Given the description of an element on the screen output the (x, y) to click on. 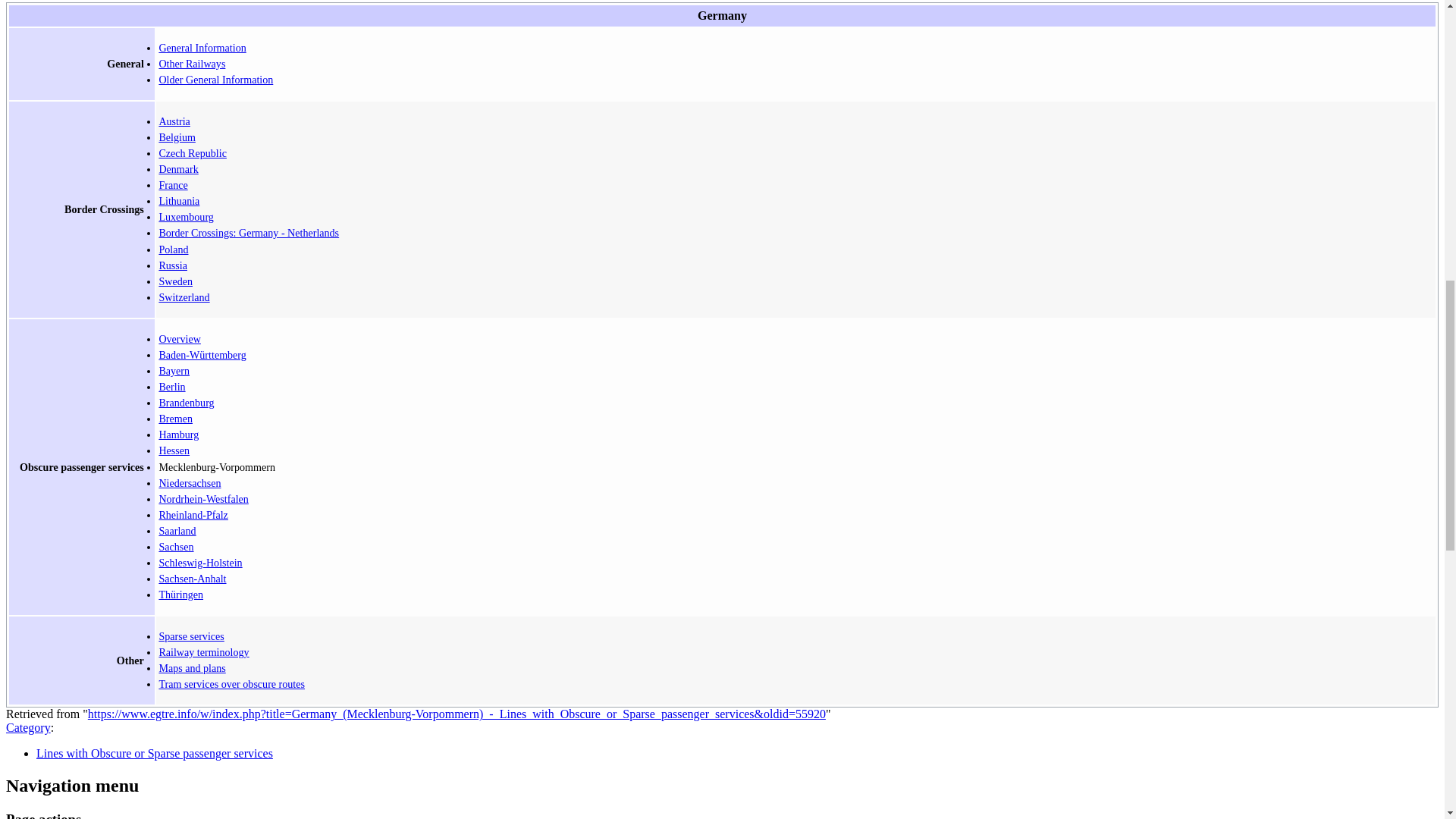
Russia (172, 265)
France (172, 184)
Mecklenburg-Vorpommern (216, 467)
Border Crossings: Germany - Lithuania (178, 200)
Poland (172, 249)
Border Crossings: Czech Republic - Germany (192, 152)
Border Crossings: Germany - Poland (172, 249)
General Information (202, 47)
Border Crossings: Germany - Netherlands (248, 232)
Bremen (175, 418)
Border Crossings: France - Germany (172, 184)
Hessen (173, 450)
Berlin (171, 386)
Germany - General Information - Other Railways (191, 63)
Border Crossings: Germany - Sweden (175, 281)
